Given the description of an element on the screen output the (x, y) to click on. 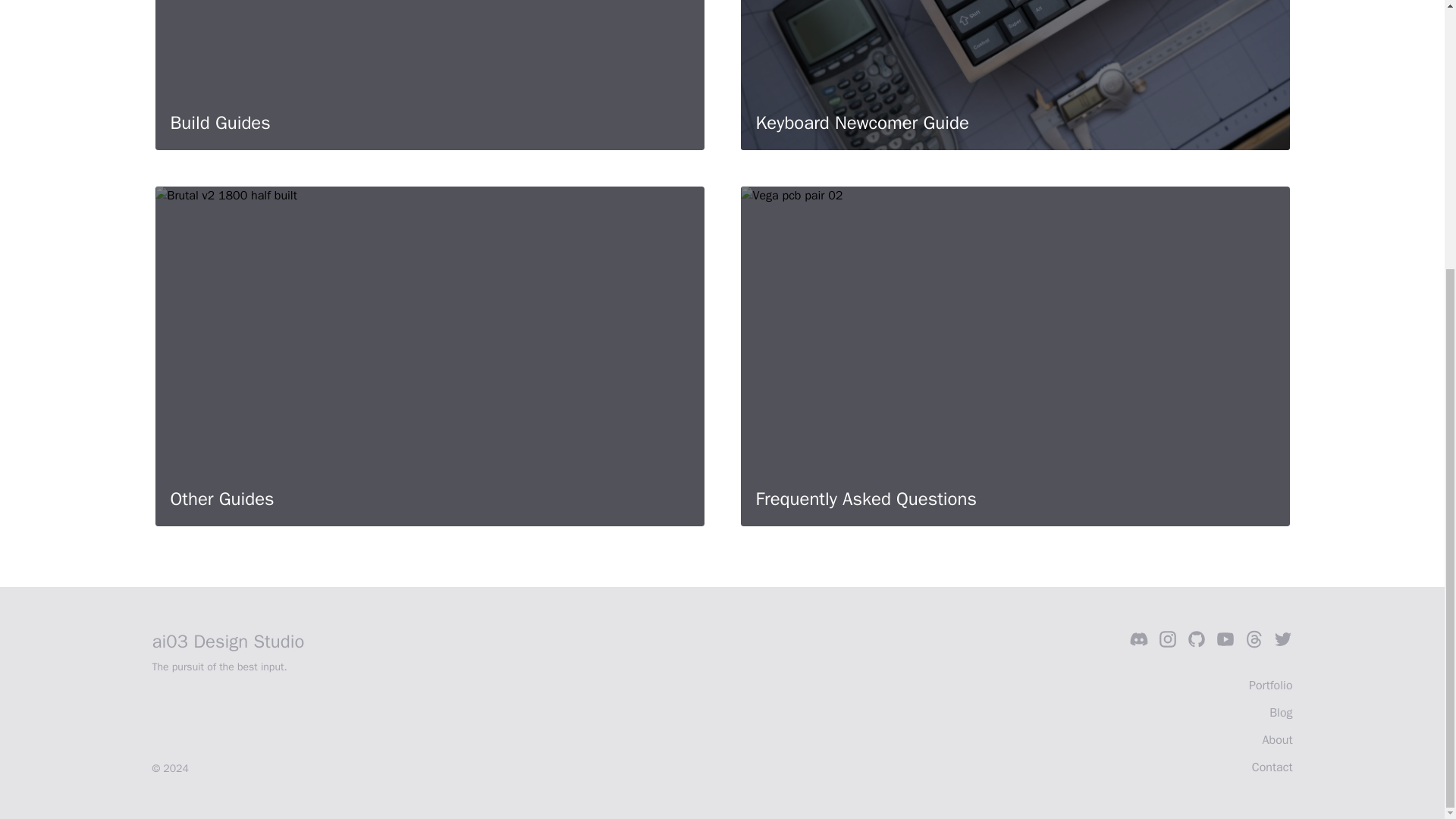
Blog (1280, 712)
Portfolio (1270, 685)
Contact (1272, 767)
About (1277, 739)
